Given the description of an element on the screen output the (x, y) to click on. 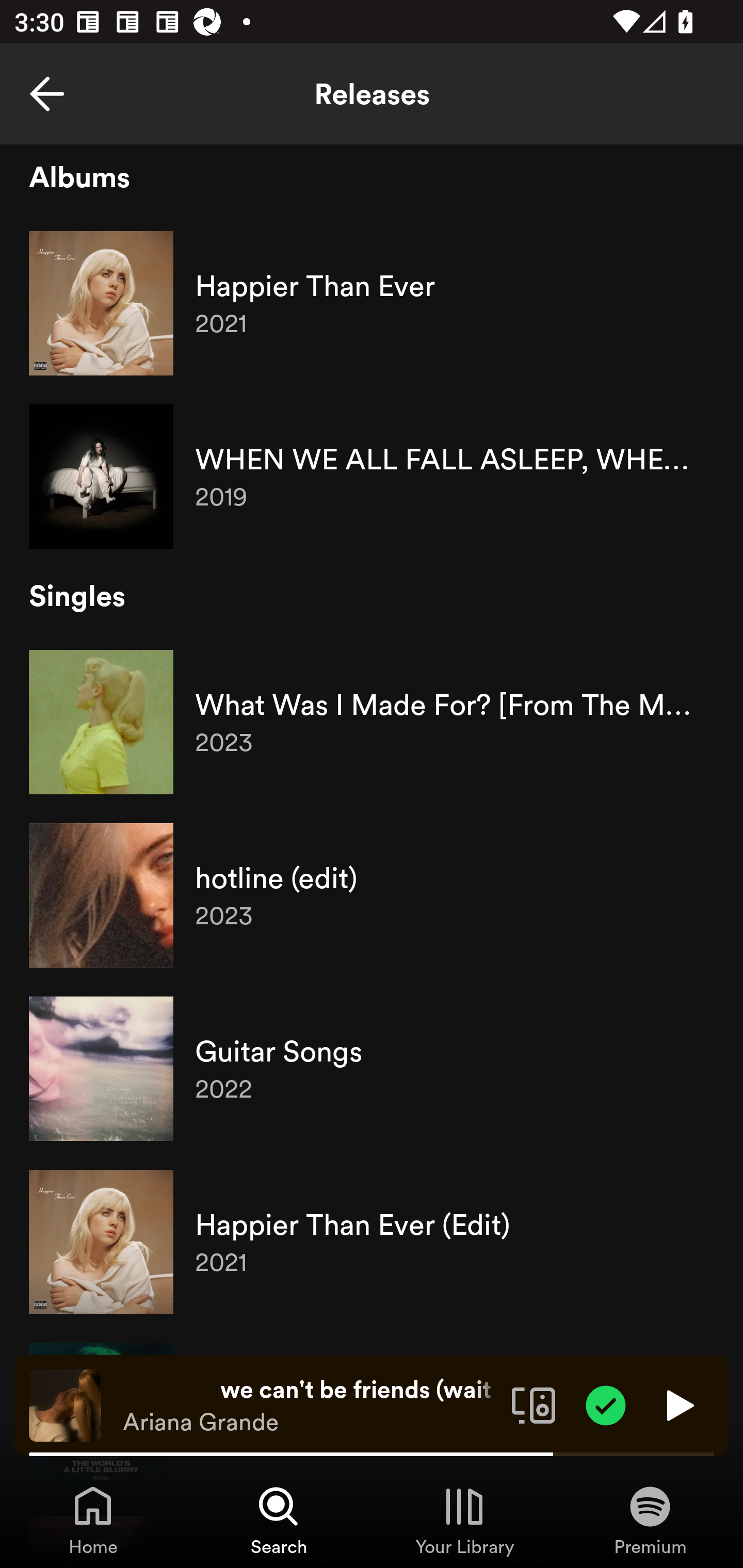
Back (46, 93)
Happier Than Ever 2021 (371, 303)
WHEN WE ALL FALL ASLEEP, WHERE DO WE GO? 2019 (371, 476)
hotline (edit) 2023 (371, 895)
Guitar Songs 2022 (371, 1068)
Happier Than Ever (Edit) 2021 (371, 1241)
The cover art of the currently playing track (64, 1404)
Connect to a device. Opens the devices menu (533, 1404)
Item added (605, 1404)
Play (677, 1404)
Home, Tab 1 of 4 Home Home (92, 1519)
Search, Tab 2 of 4 Search Search (278, 1519)
Your Library, Tab 3 of 4 Your Library Your Library (464, 1519)
Premium, Tab 4 of 4 Premium Premium (650, 1519)
